Given the description of an element on the screen output the (x, y) to click on. 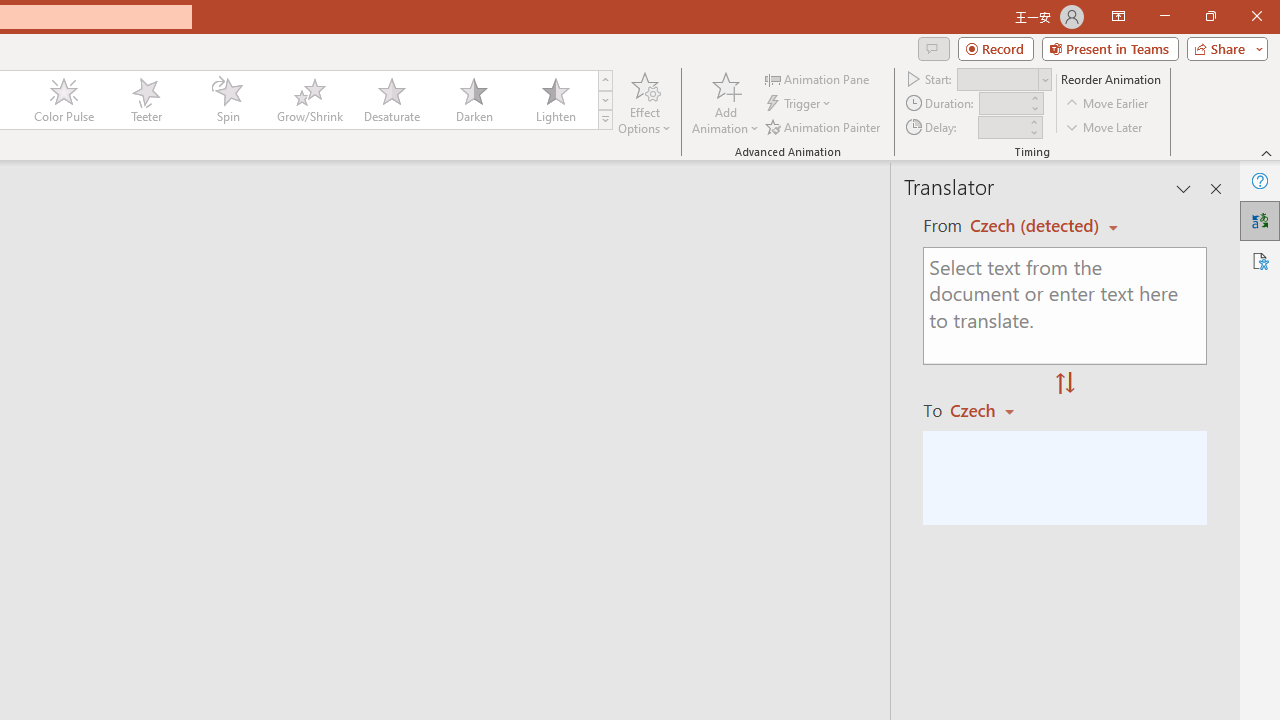
Copilot (Ctrl+Shift+.) (1241, 82)
